Given the description of an element on the screen output the (x, y) to click on. 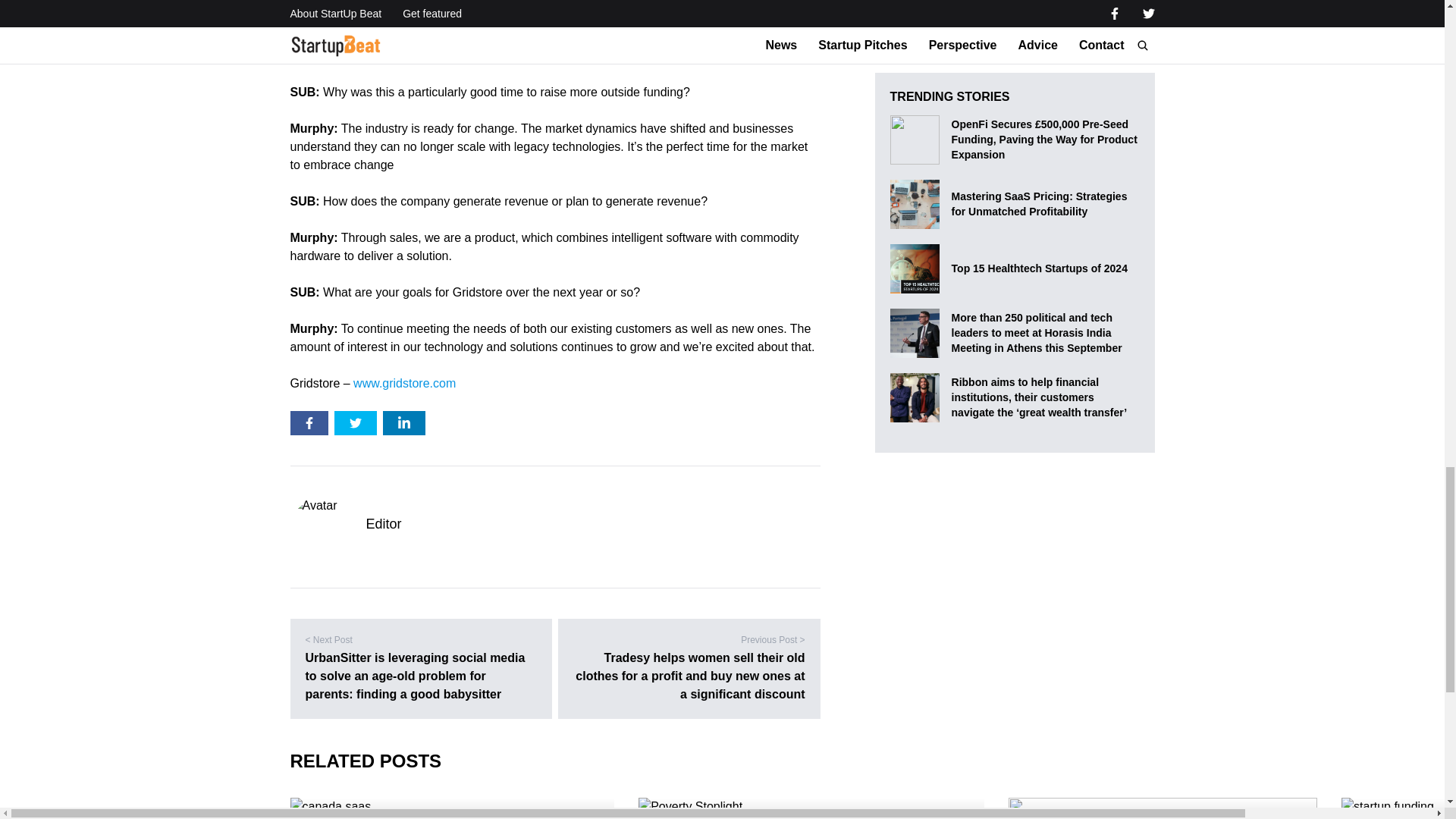
www.gridstore.com (404, 382)
Editor (383, 523)
